Given the description of an element on the screen output the (x, y) to click on. 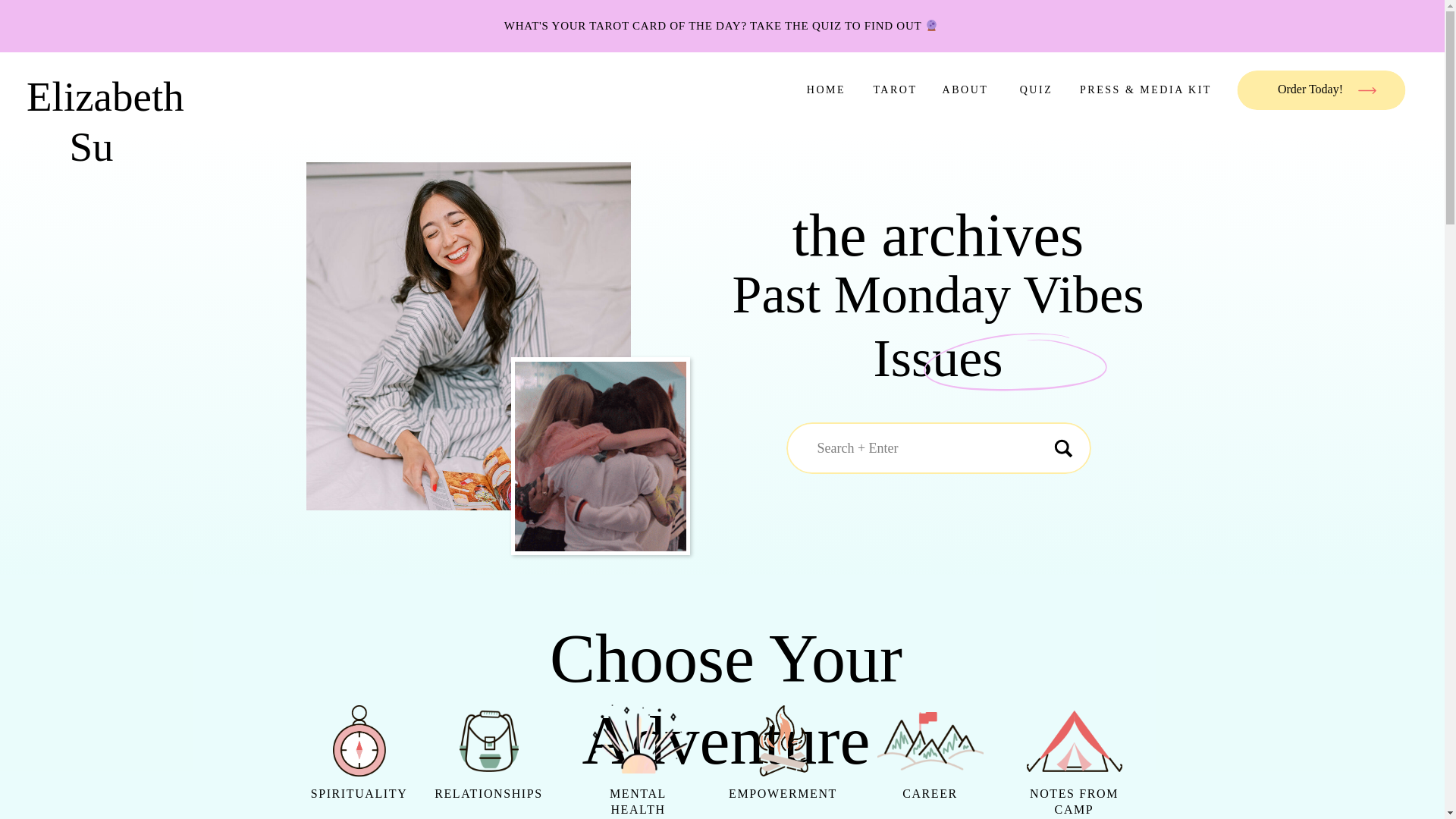
RELATIONSHIPS (489, 802)
Order Today! (1309, 90)
ABOUT (965, 89)
CAREER (930, 802)
Elizabeth Su (90, 90)
HOME (826, 89)
MENTAL HEALTH (637, 802)
NOTES FROM CAMP (1074, 802)
SPIRITUALITY (357, 802)
TAROT (895, 89)
QUIZ (1036, 89)
EMPOWERMENT (783, 802)
